Given the description of an element on the screen output the (x, y) to click on. 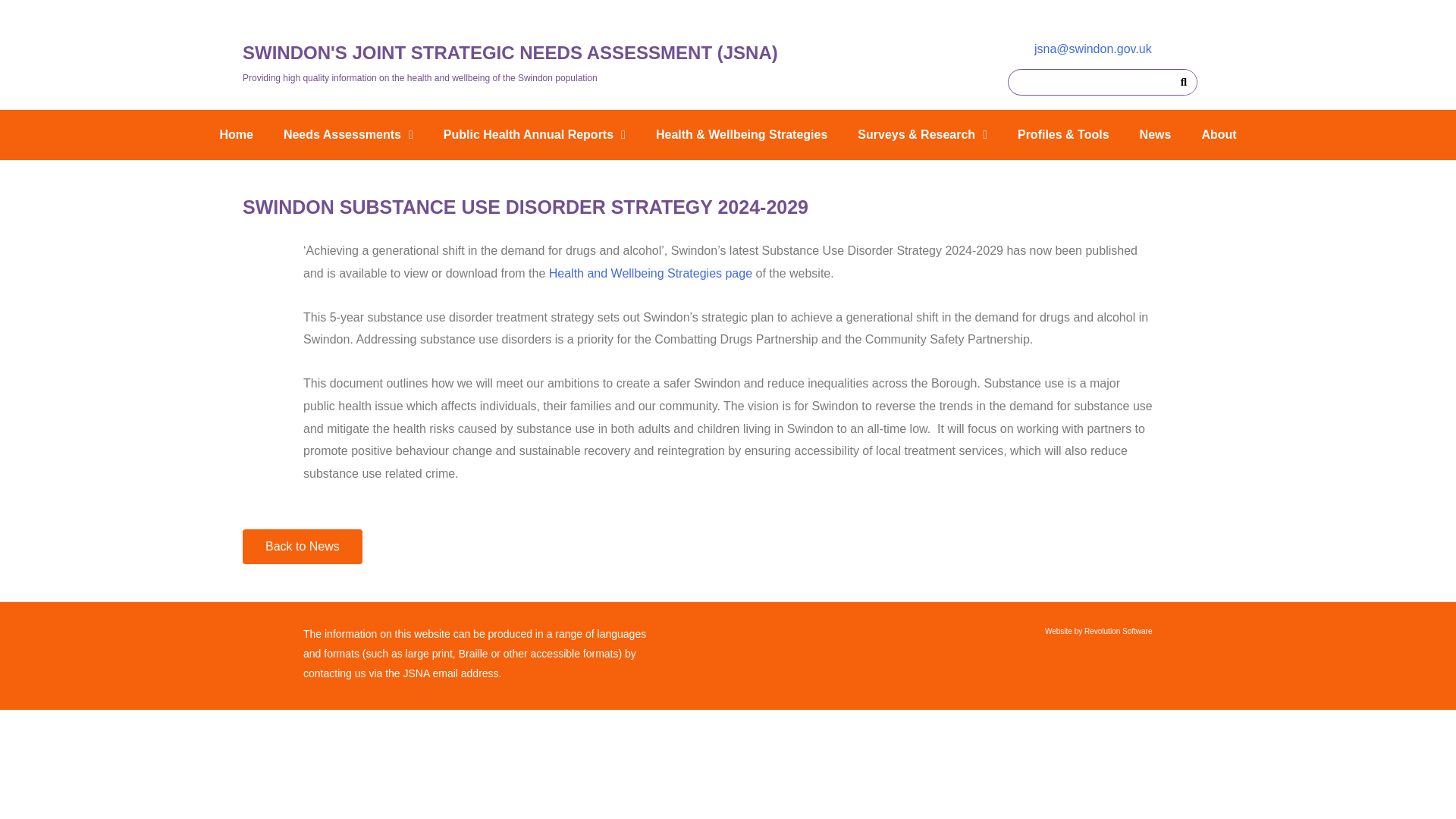
Home (235, 134)
Search (1183, 82)
Needs Assessments (347, 134)
Search (1089, 82)
About (1218, 134)
Public Health Annual Reports (534, 134)
News (1155, 134)
